Given the description of an element on the screen output the (x, y) to click on. 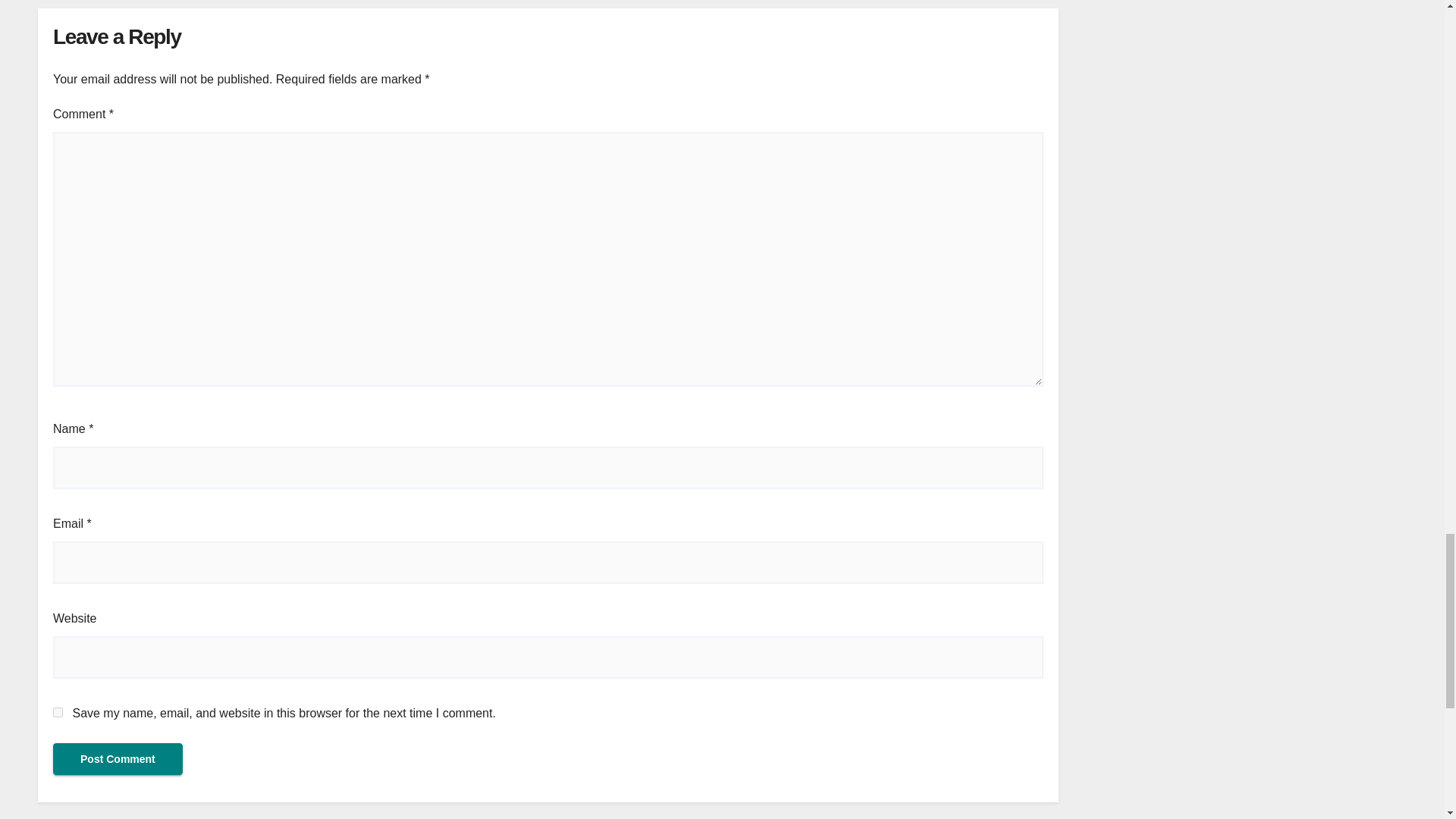
Post Comment (117, 758)
Post Comment (117, 758)
yes (57, 712)
